Given the description of an element on the screen output the (x, y) to click on. 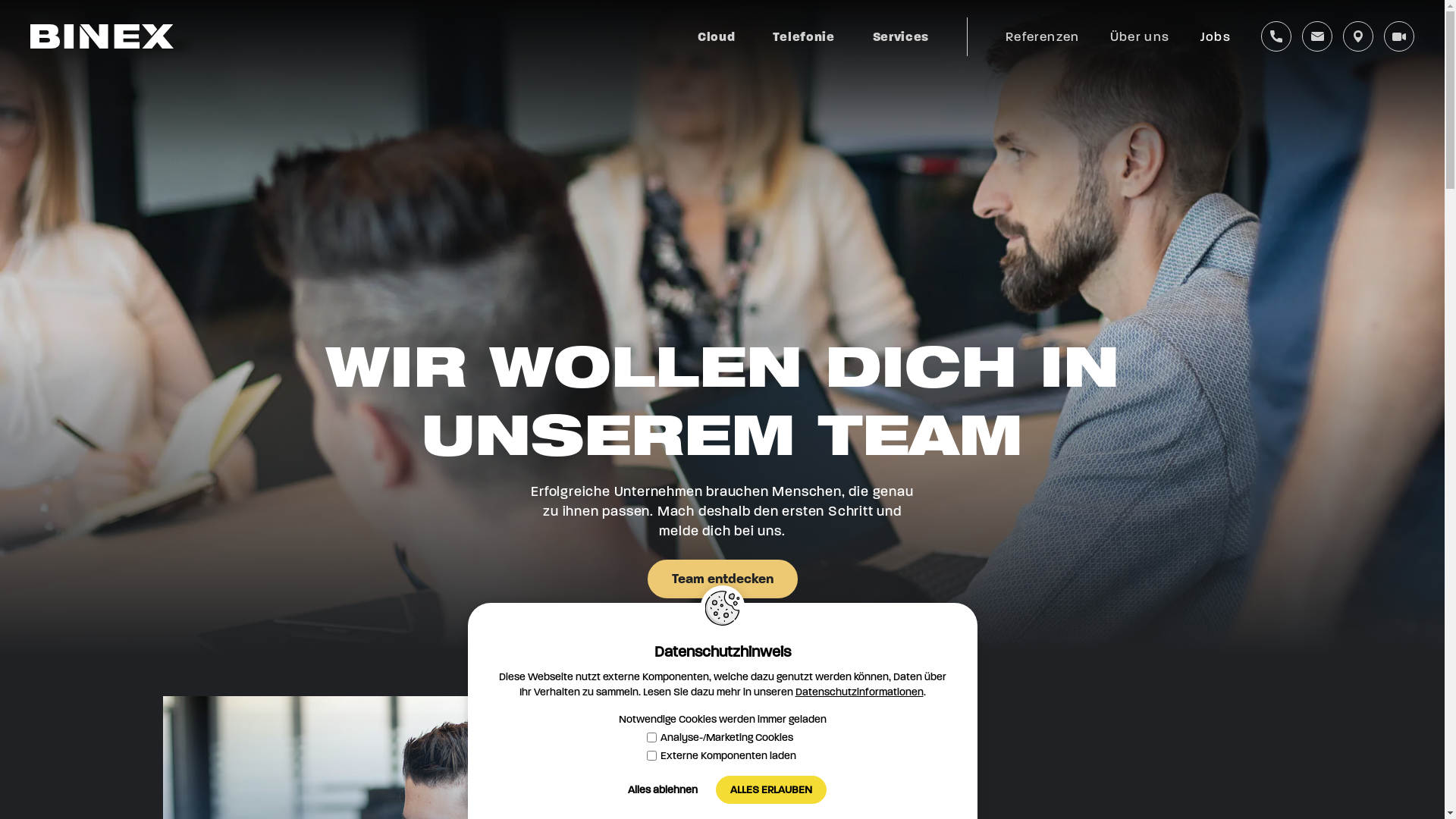
Team entdecken Element type: text (722, 578)
Telefonie Element type: text (803, 36)
Services Element type: text (900, 36)
Zur Startseite Element type: hover (101, 36)
Jobs Element type: text (1207, 36)
Cloud Element type: text (715, 36)
ALLES ERLAUBEN Element type: text (770, 789)
Datenschutzinformationen Element type: text (858, 691)
Referenzen Element type: text (1042, 36)
Alles ablehnen Element type: text (662, 789)
